Given the description of an element on the screen output the (x, y) to click on. 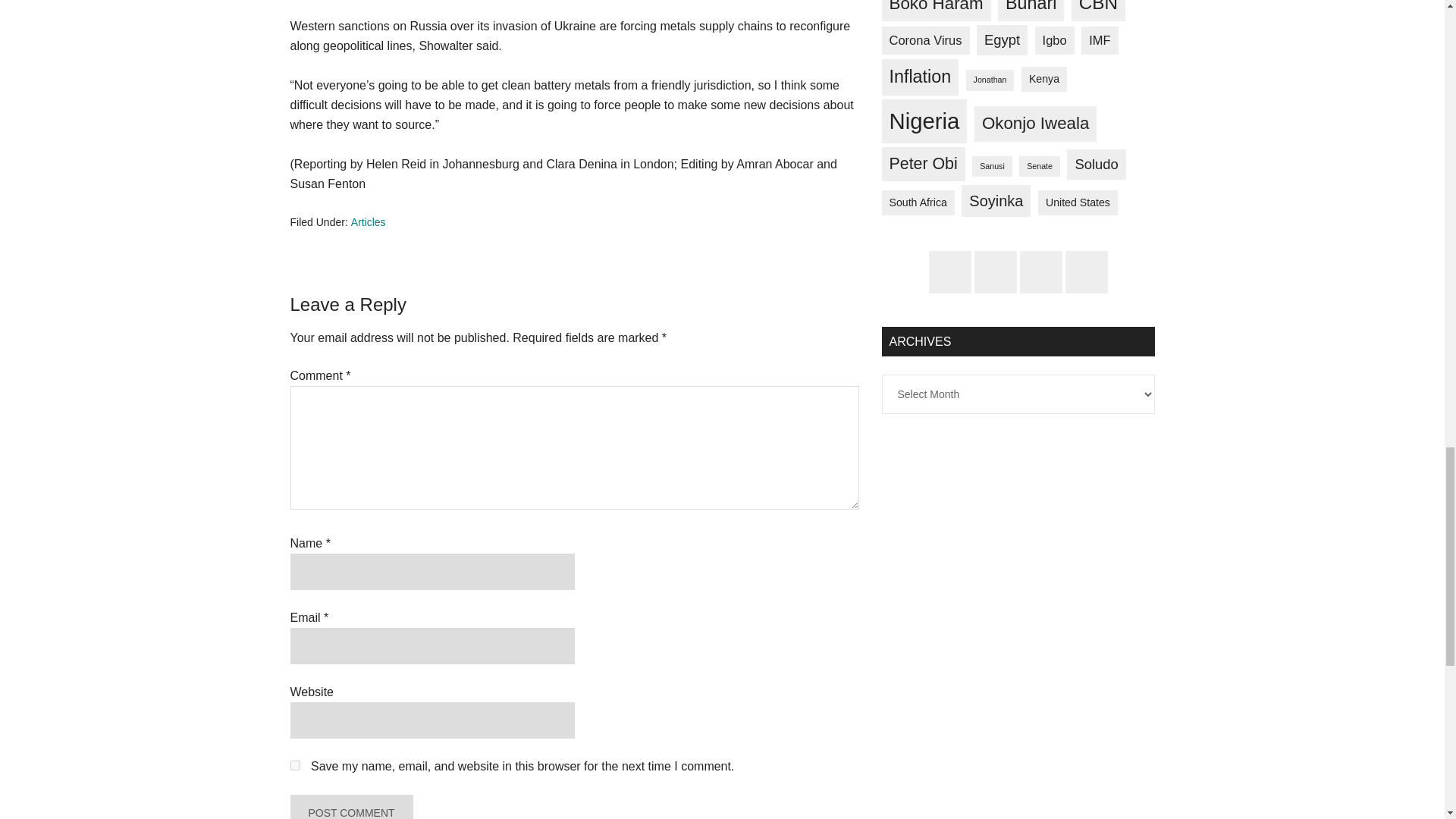
Post Comment (350, 806)
Boko Haram (935, 10)
Corona Virus (924, 40)
Egypt (1001, 40)
Post Comment (350, 806)
Articles (367, 222)
Buhari (1030, 11)
CBN (1098, 10)
yes (294, 765)
